Given the description of an element on the screen output the (x, y) to click on. 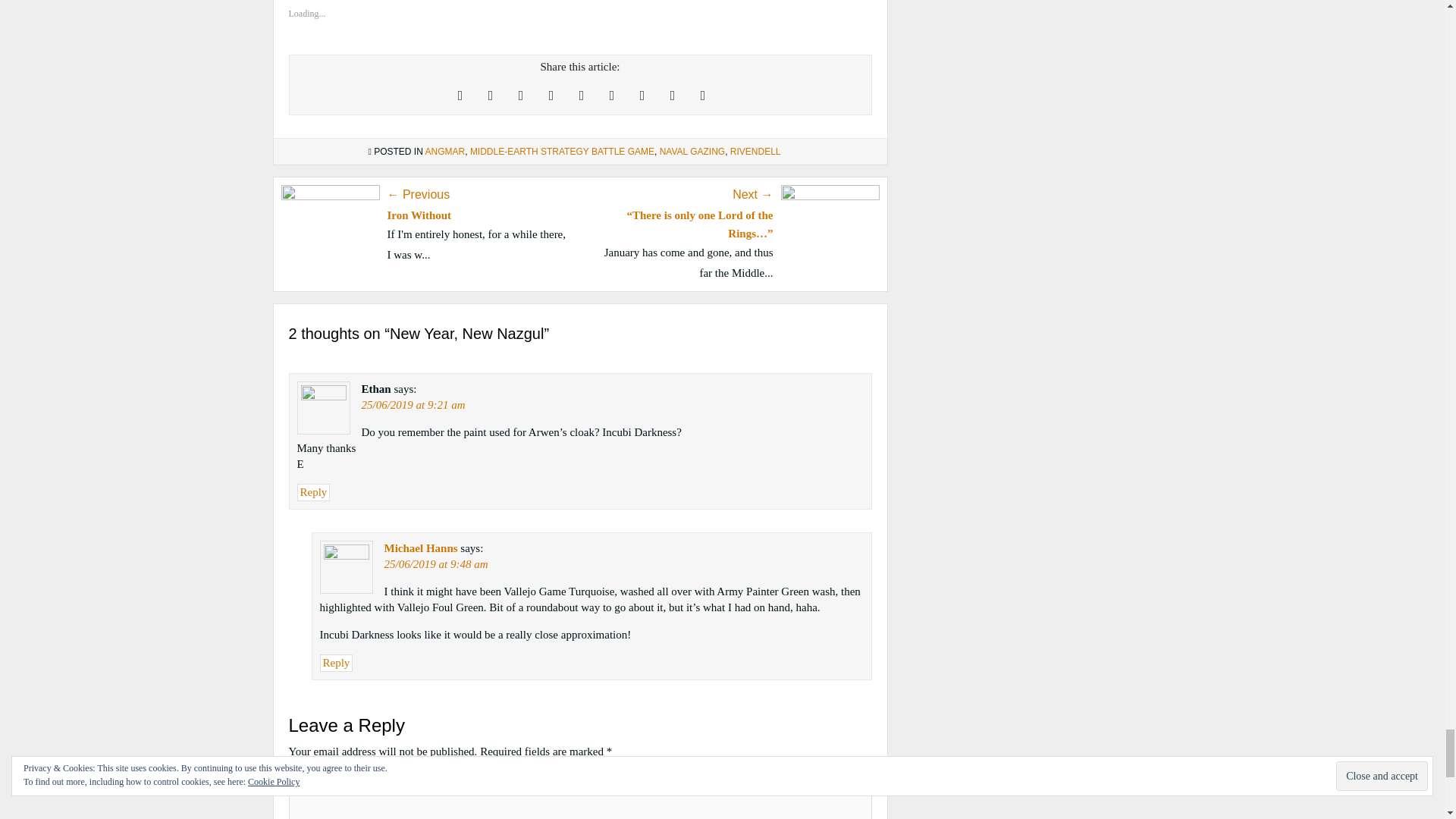
Share this on Stumbleupon (611, 95)
Share this on Linkedin (672, 95)
Share this on Facebook (490, 95)
Share this on Pinterest (550, 95)
Tweet This! (459, 95)
Share this on Digg (641, 95)
Share this on Reddit (581, 95)
Share this on Delicious (702, 95)
